Given the description of an element on the screen output the (x, y) to click on. 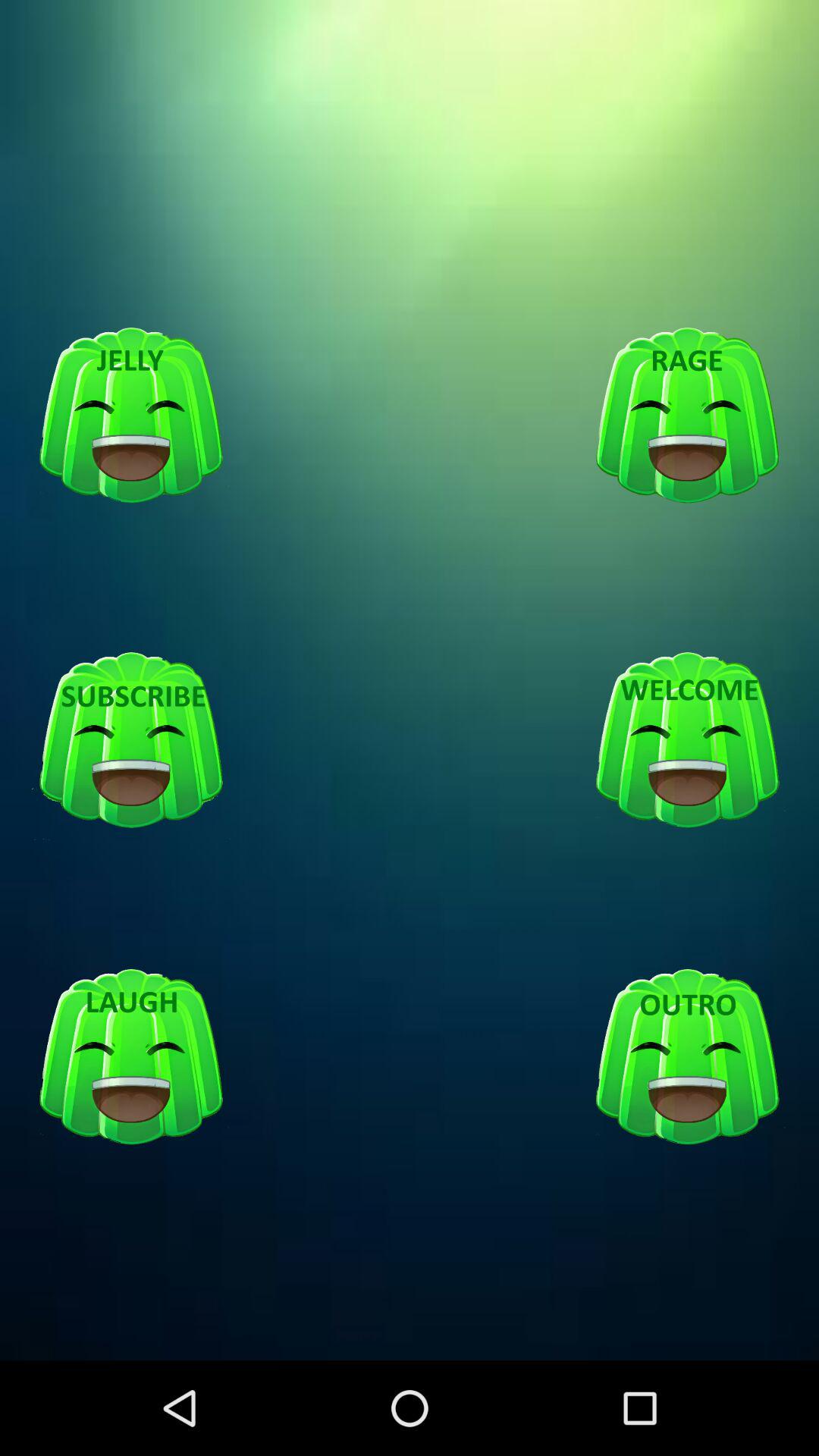
open emoji (687, 1057)
